Given the description of an element on the screen output the (x, y) to click on. 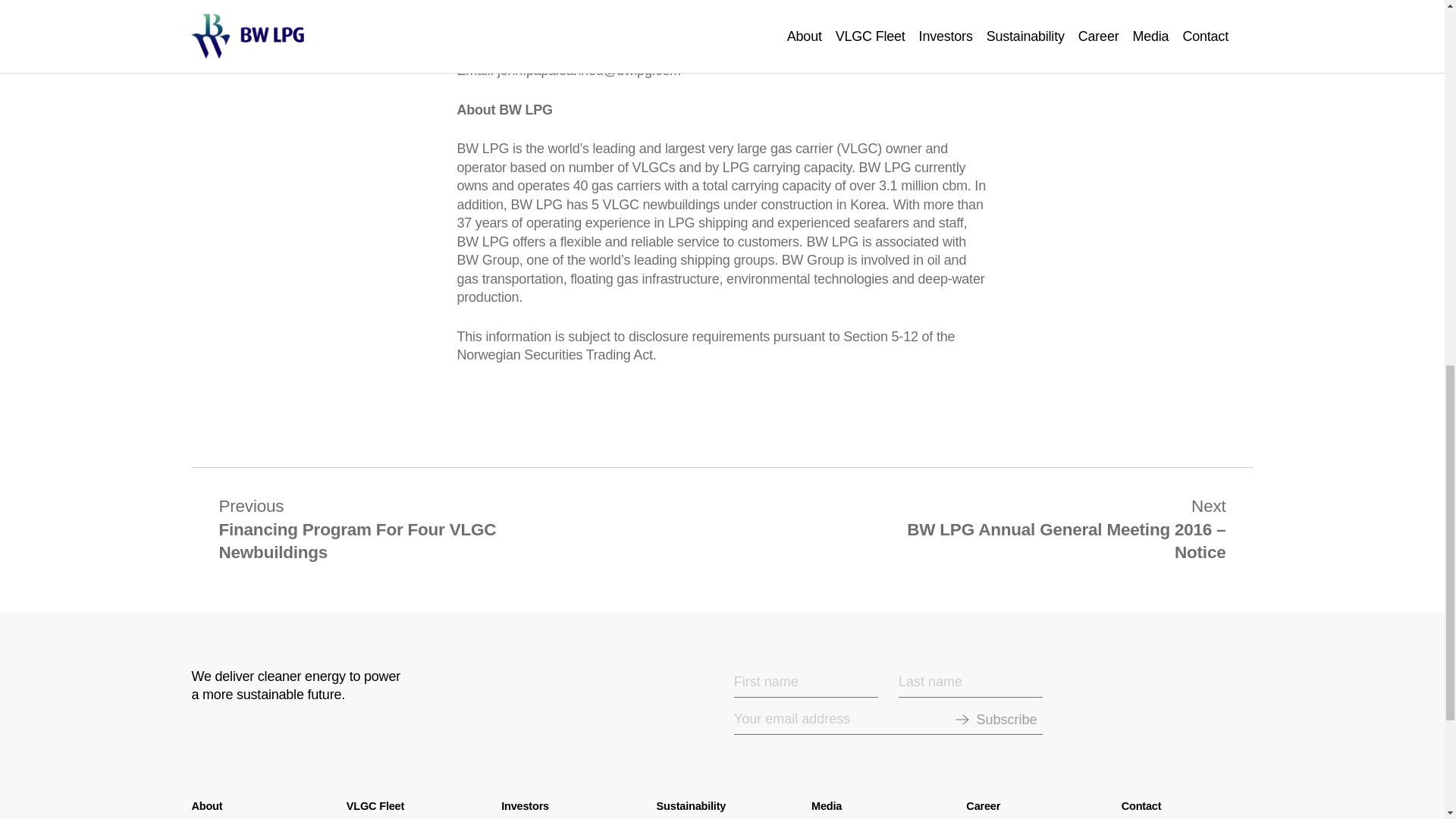
Subscribe (1005, 719)
